Given the description of an element on the screen output the (x, y) to click on. 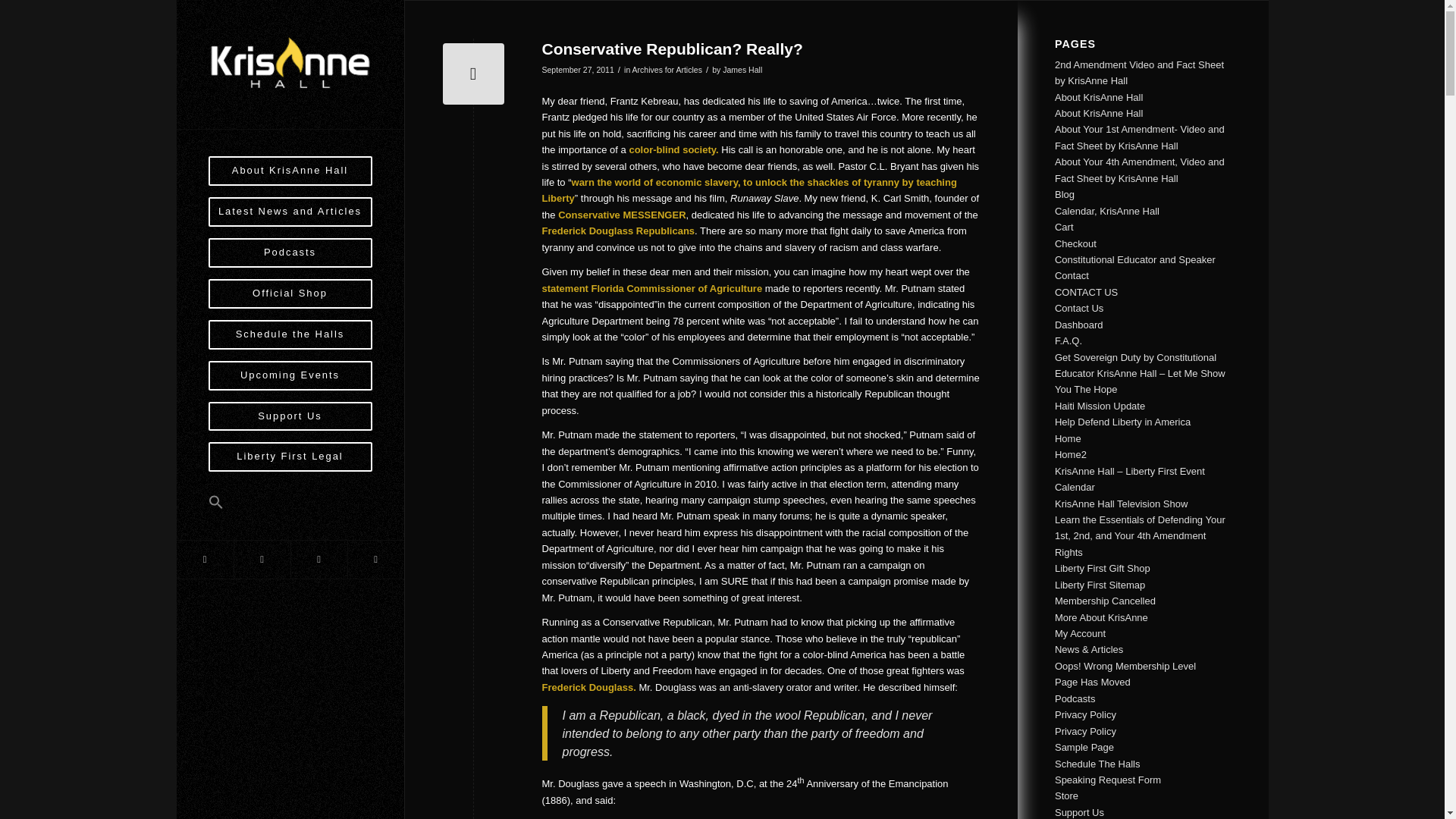
James Hall (741, 69)
statement Florida Commissioner of Agriculture (651, 288)
Frederick Douglass Republicans (617, 230)
Archives for Articles (666, 69)
Liberty First Legal (290, 462)
Official Shop (290, 299)
Permanent Link: Conservative Republican? Really? (671, 48)
color-blind society (672, 149)
Frederick Douglass (587, 686)
Podcasts (290, 258)
Conservative Republican? Really? (671, 48)
Posts by James Hall (741, 69)
Instagram (317, 559)
Latest News and Articles (290, 217)
Conservative MESSENGER (621, 214)
